Given the description of an element on the screen output the (x, y) to click on. 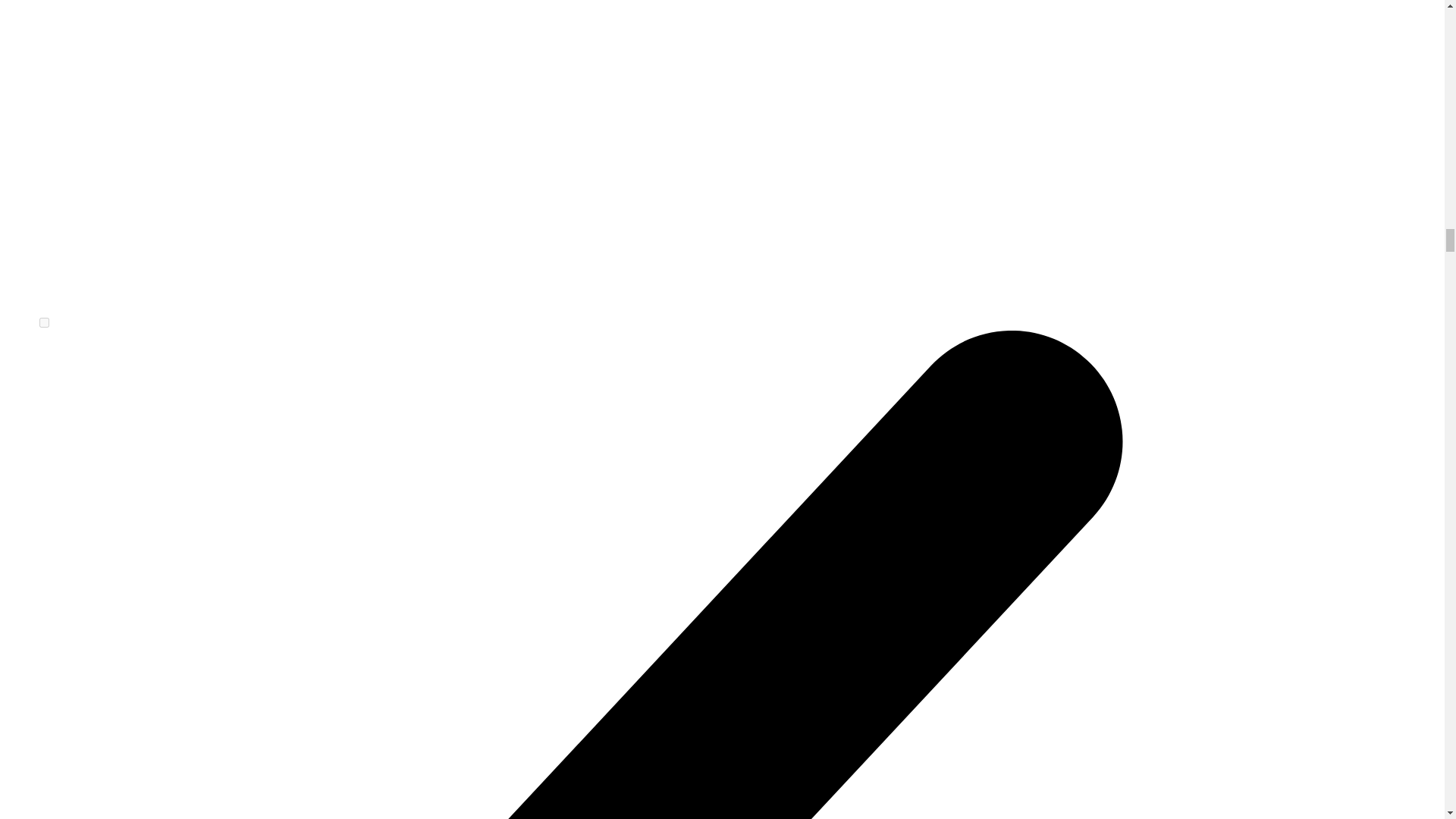
on (44, 322)
